Given the description of an element on the screen output the (x, y) to click on. 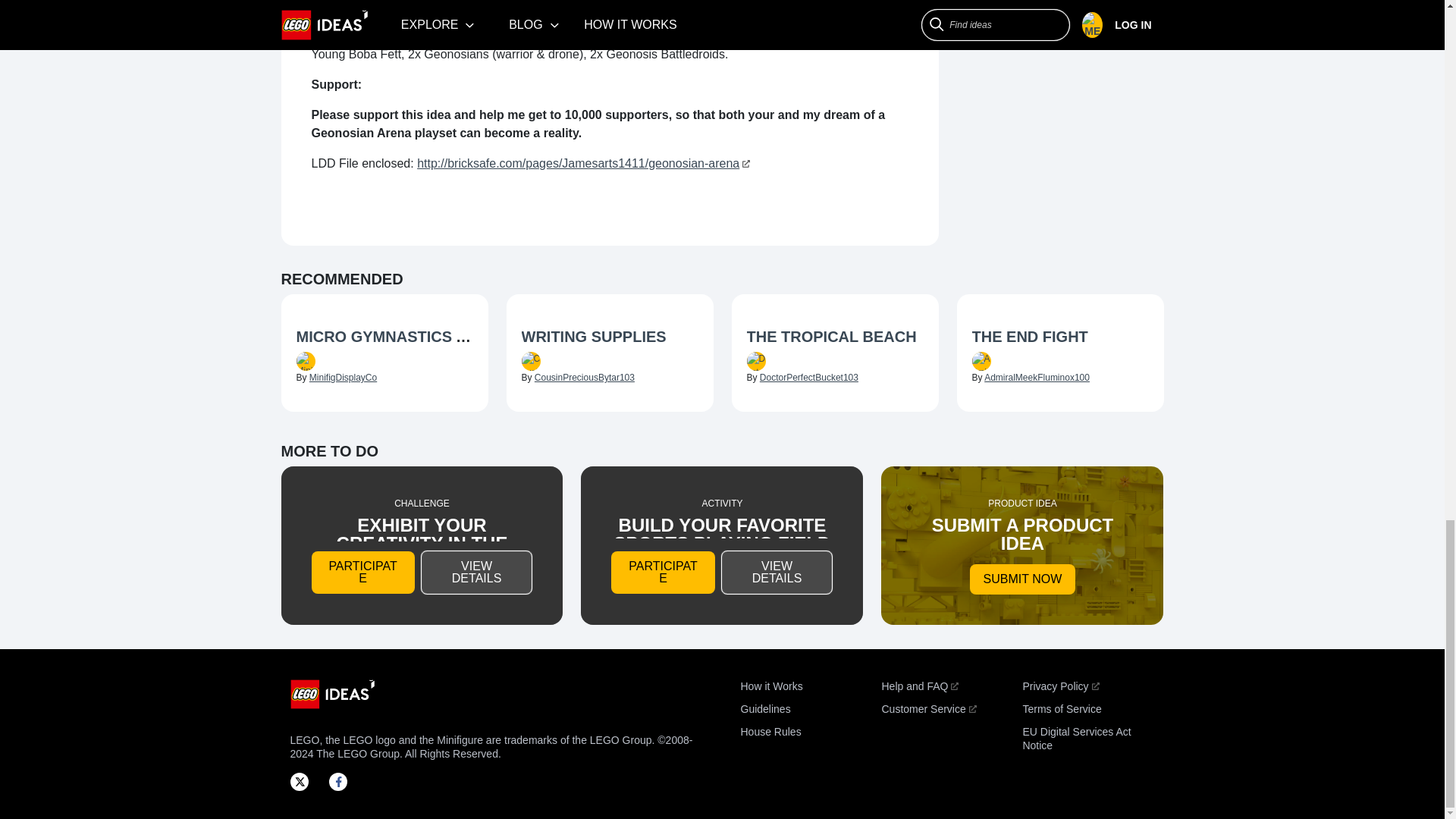
WRITING SUPPLIES (593, 336)
The Tropical Beach (834, 337)
MinifigDisplayCo (342, 377)
MICRO GYMNASTICS ARENA (401, 336)
Writing Supplies (609, 337)
The End Fight (1060, 337)
X (303, 781)
Micro Gymnastics Arena (383, 337)
Facebook (342, 781)
